Given the description of an element on the screen output the (x, y) to click on. 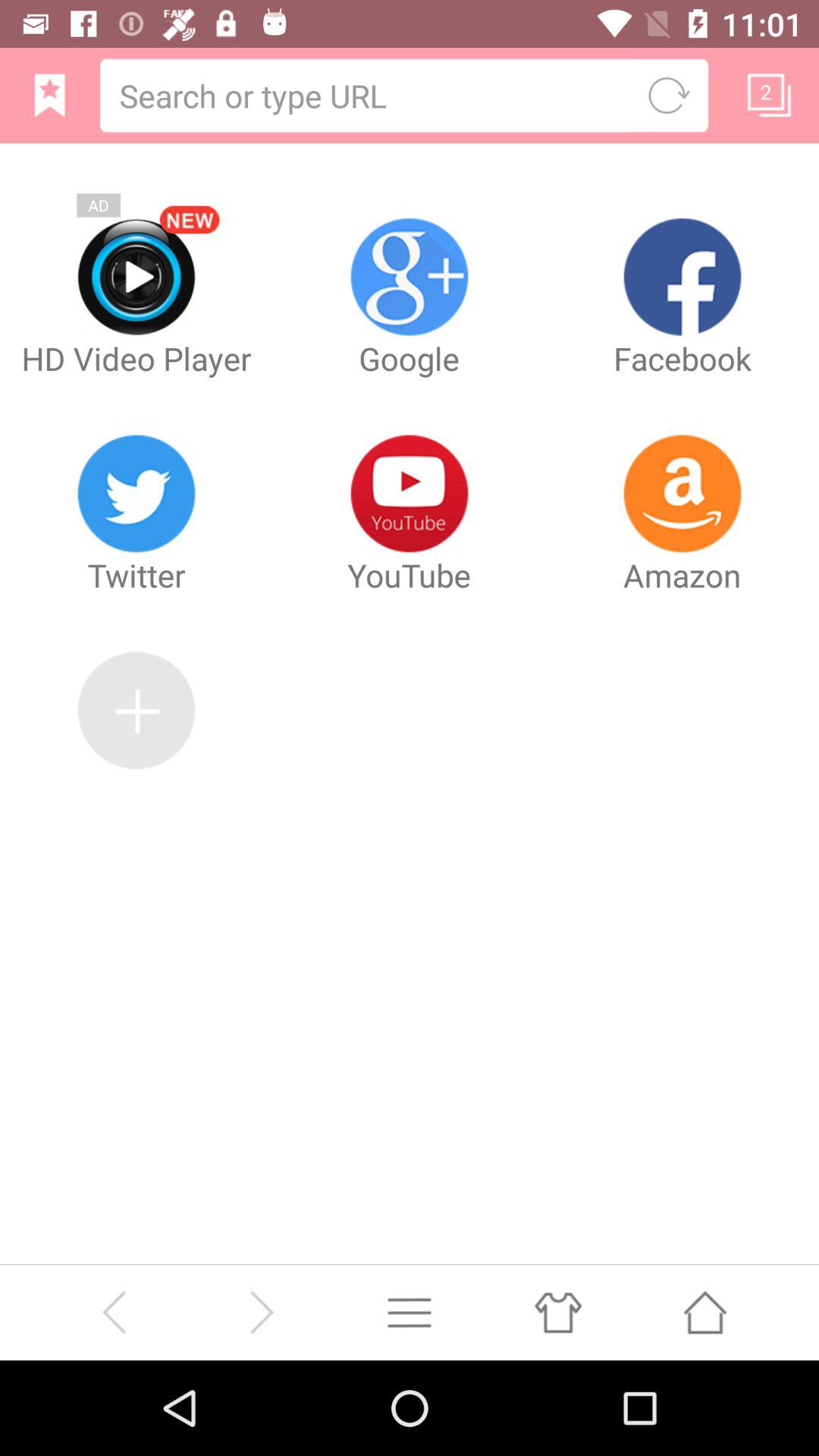
go to bookmark (769, 94)
